Given the description of an element on the screen output the (x, y) to click on. 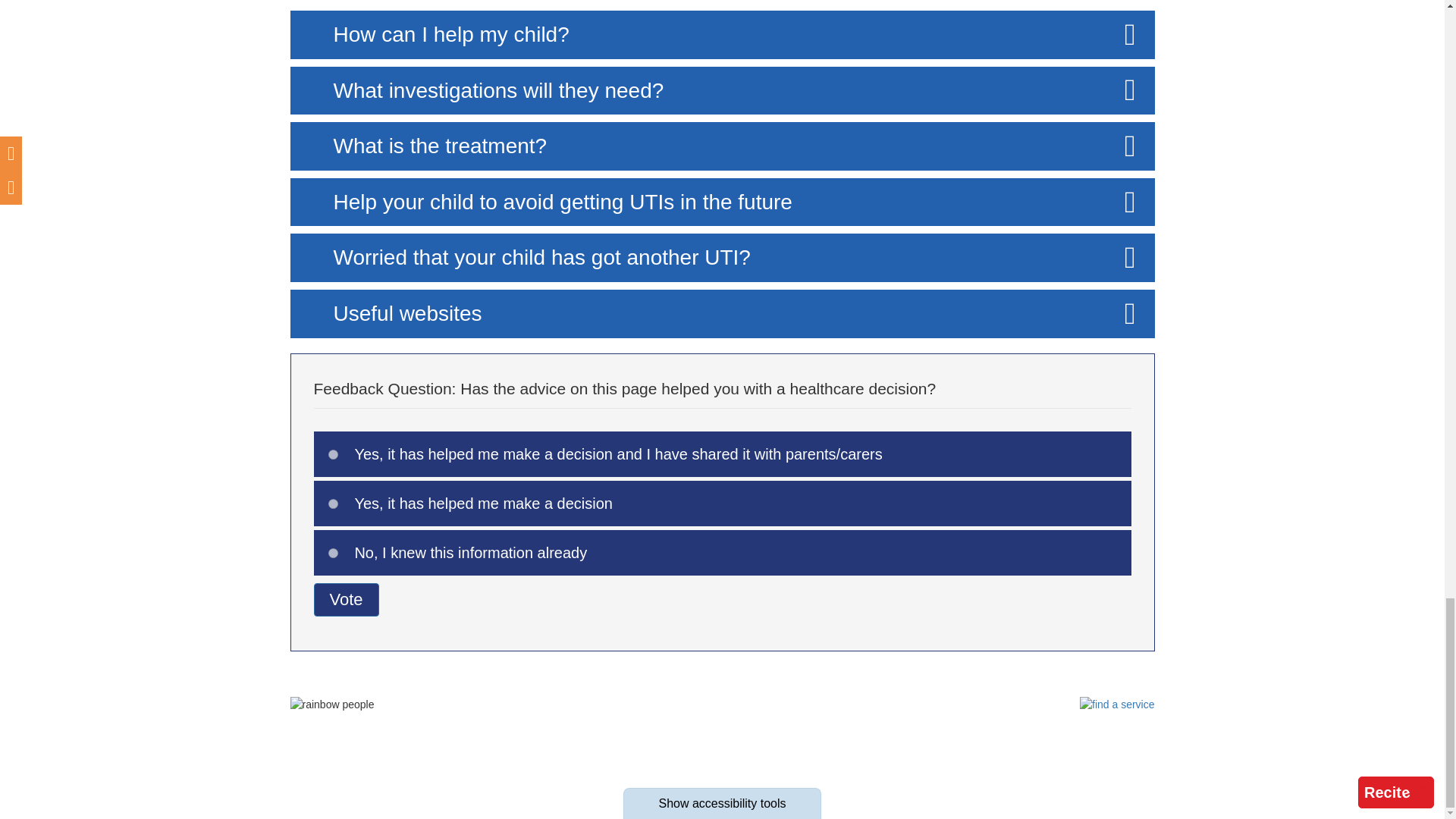
Find a local service (1117, 704)
117 (333, 503)
118 (333, 552)
116 (333, 454)
